Given the description of an element on the screen output the (x, y) to click on. 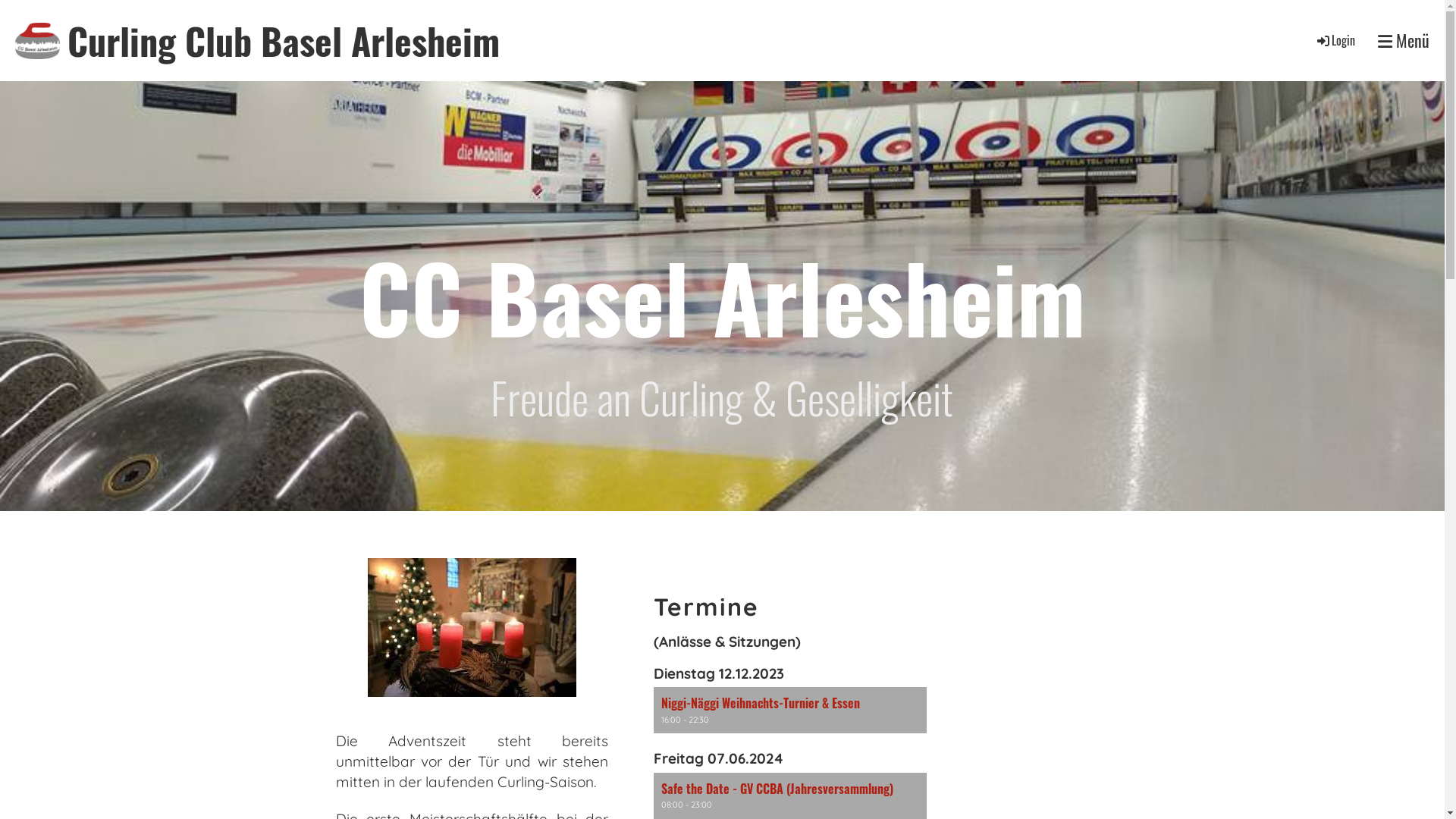
Login Element type: text (1334, 40)
Curling Club Basel Arlesheim Element type: text (283, 40)
